Given the description of an element on the screen output the (x, y) to click on. 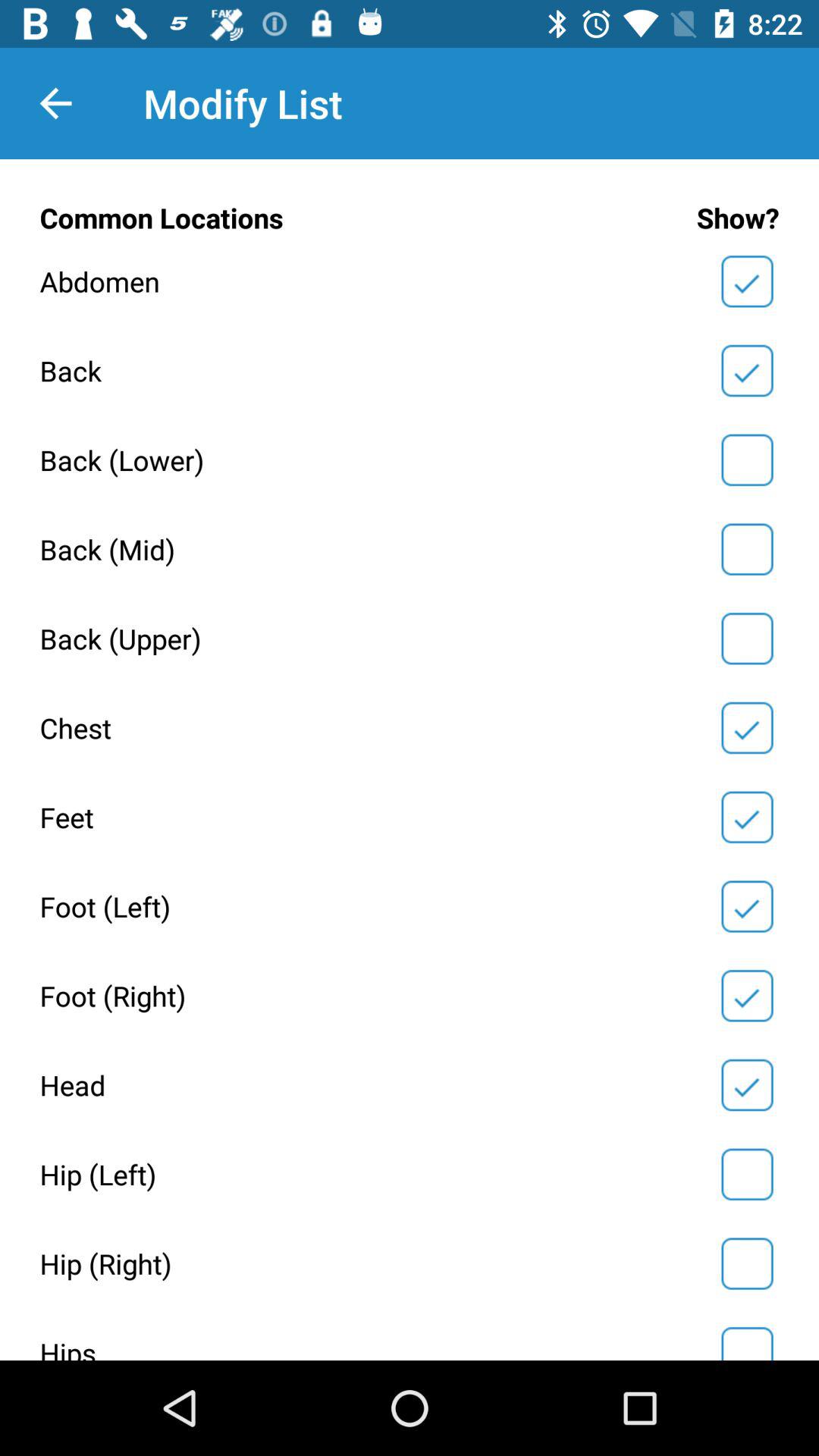
toggle pain location change pain area (747, 817)
